Given the description of an element on the screen output the (x, y) to click on. 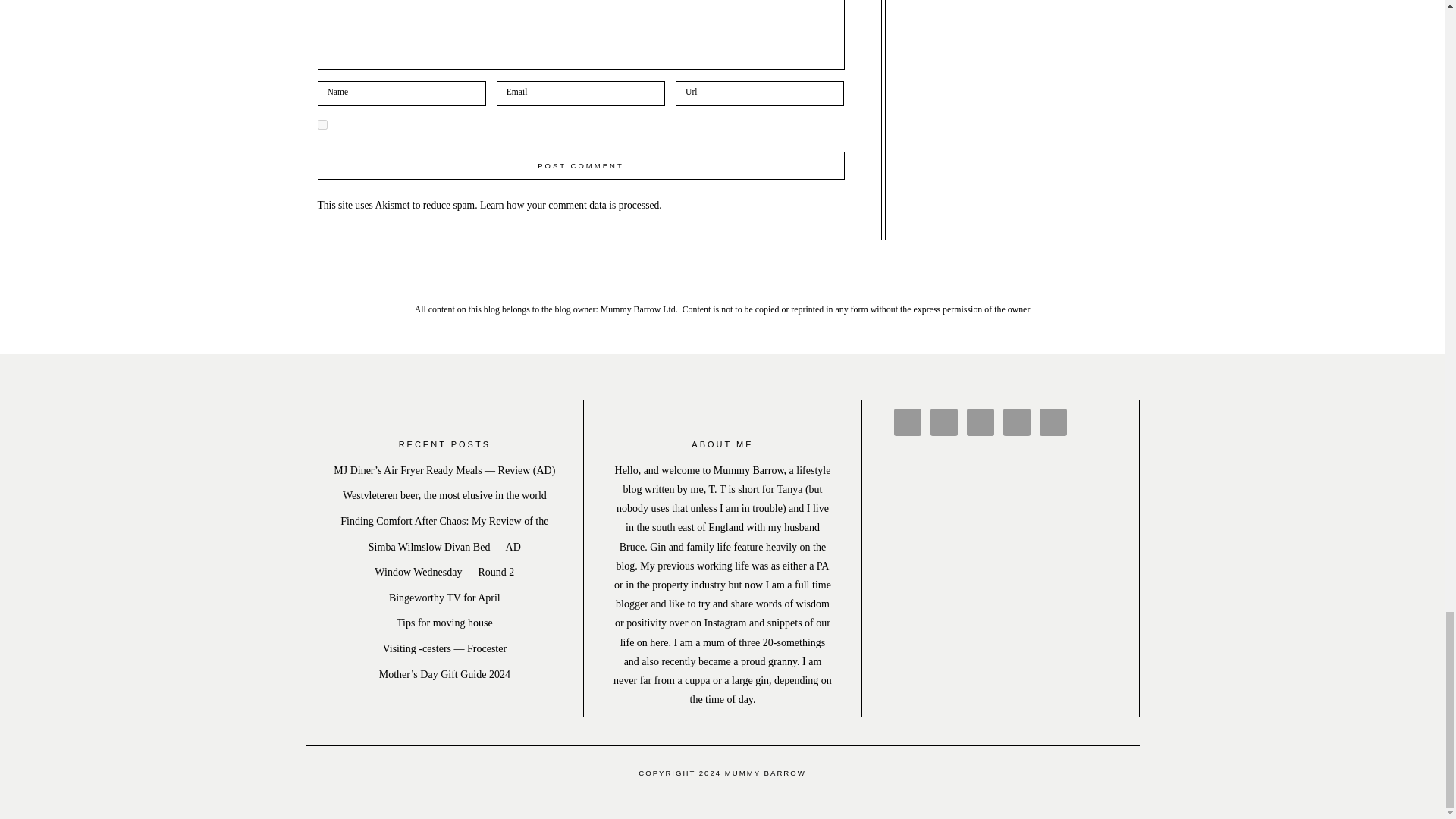
Post Comment (580, 165)
yes (321, 124)
Learn how your comment data is processed (569, 204)
Post Comment (580, 165)
